Given the description of an element on the screen output the (x, y) to click on. 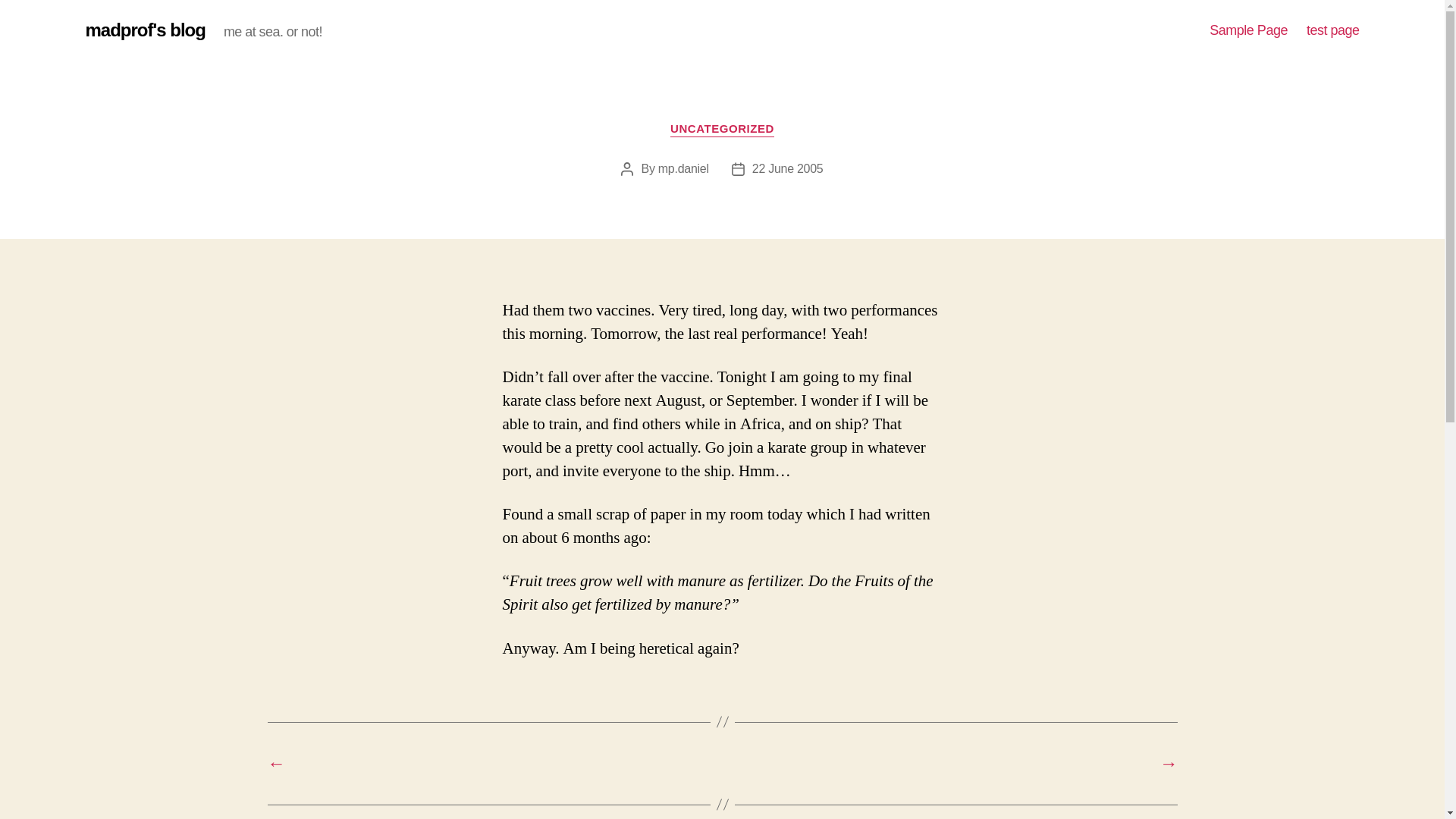
22 June 2005 (788, 168)
madprof's blog (144, 30)
UNCATEGORIZED (721, 129)
Sample Page (1248, 30)
mp.daniel (683, 168)
test page (1332, 30)
